Given the description of an element on the screen output the (x, y) to click on. 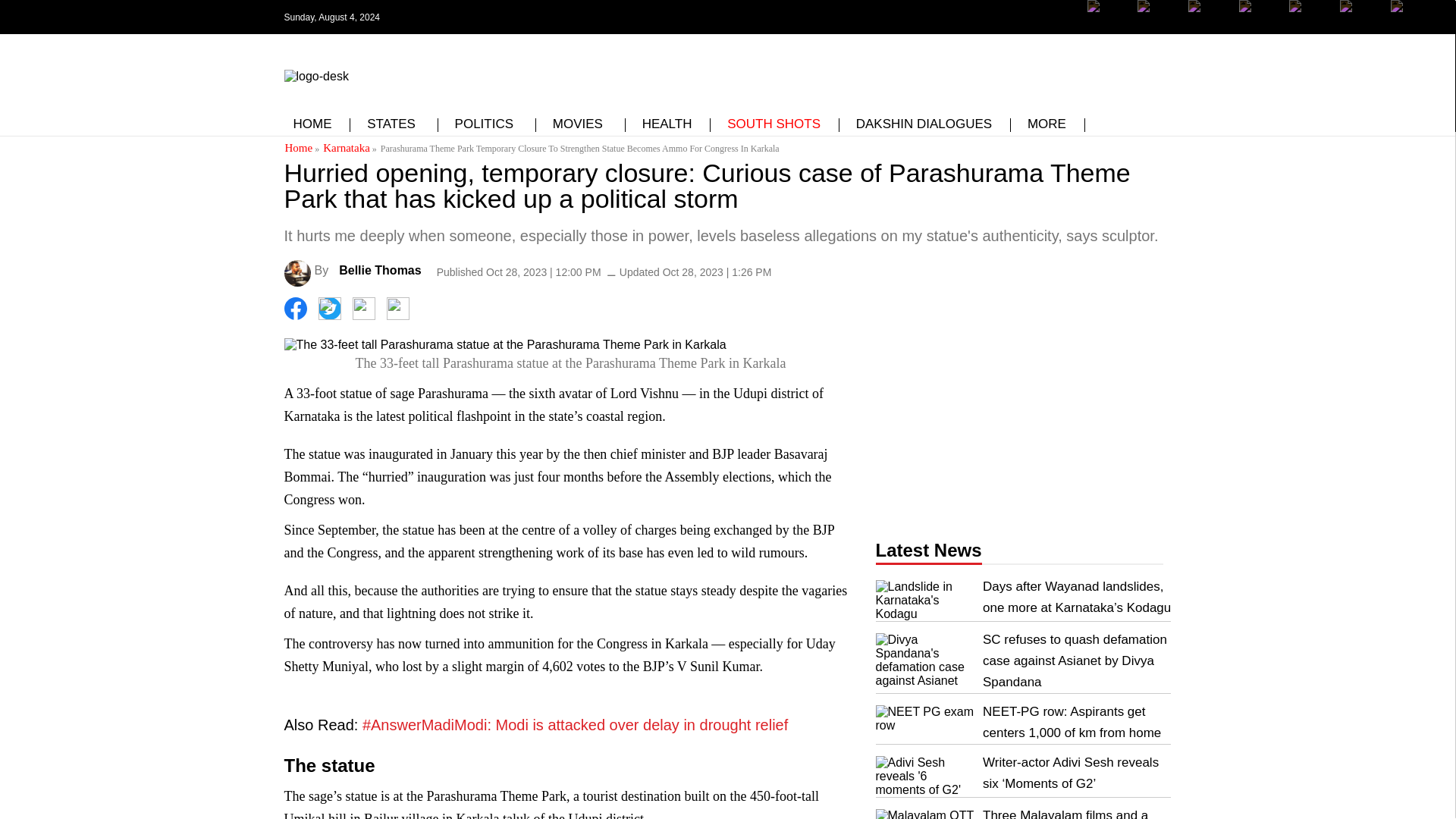
SouthFirst youtube (1309, 16)
SouthFirst twitter (1158, 16)
SouthFirst facebook (1108, 27)
SouthFirst youtube (1309, 27)
SouthFirst youtube (1260, 16)
logo (315, 72)
logo-desk (315, 76)
SouthFirst youtube (1260, 27)
SouthFirst facebook (1108, 16)
SouthFirst instagram (1209, 27)
